Given the description of an element on the screen output the (x, y) to click on. 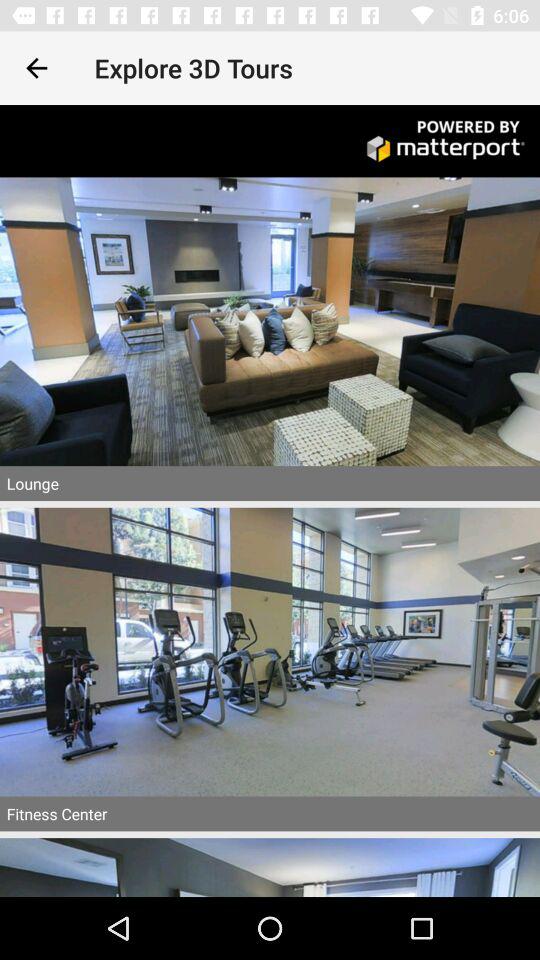
tap icon next to explore 3d tours (36, 68)
